Given the description of an element on the screen output the (x, y) to click on. 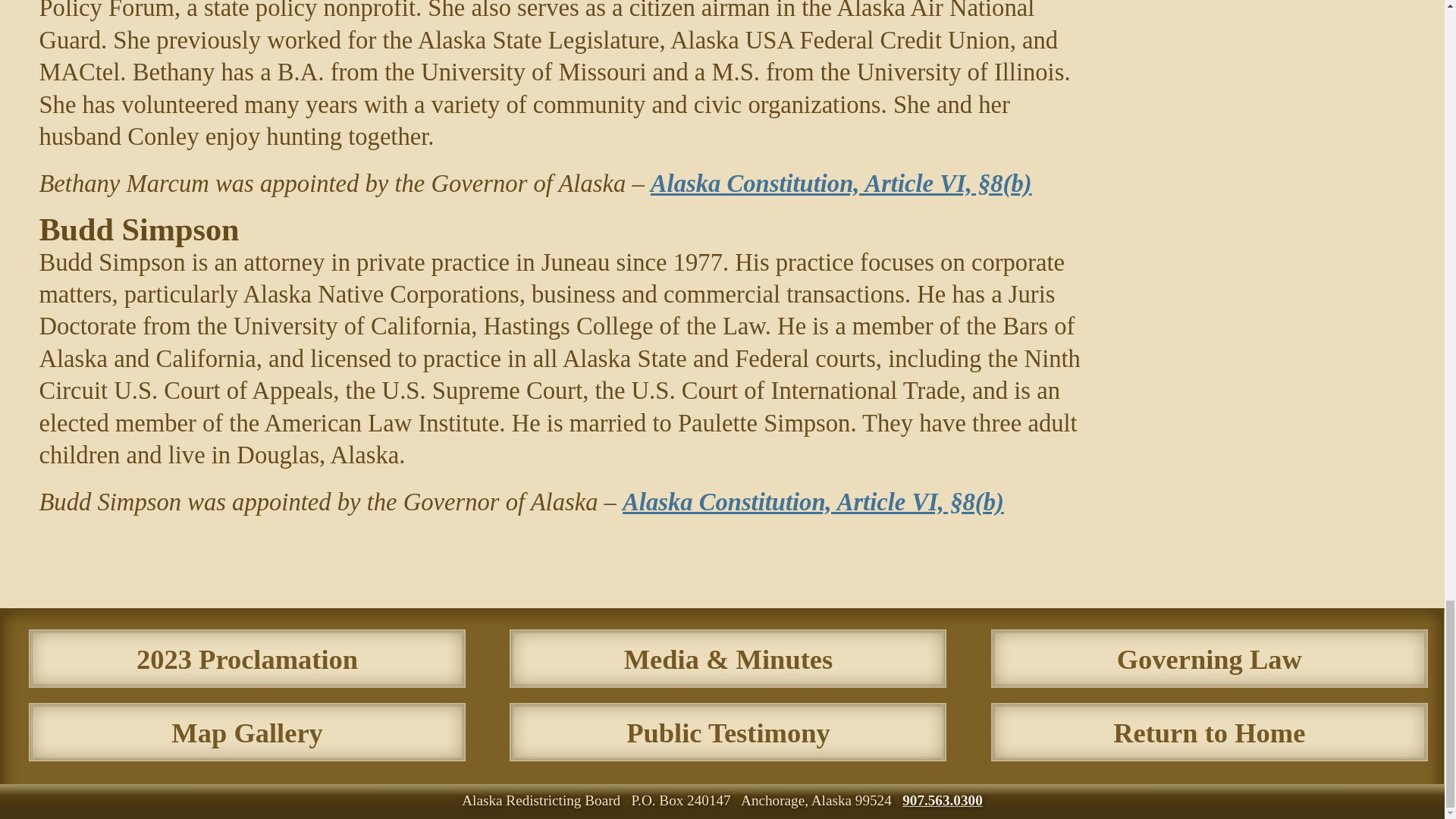
2023 Proclamation (247, 658)
Governing Law (841, 183)
Governing Law (813, 501)
